Given the description of an element on the screen output the (x, y) to click on. 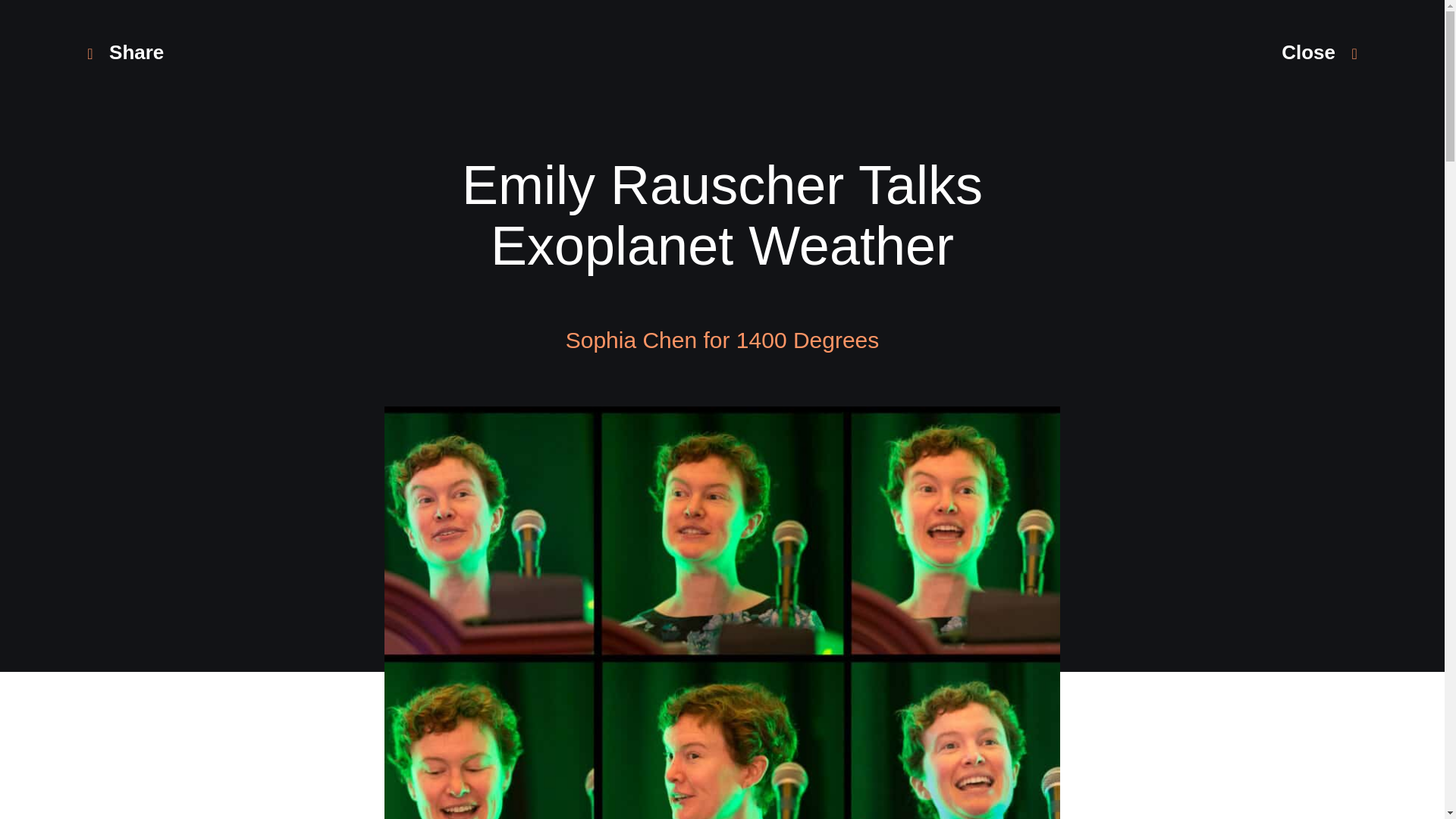
Close (1318, 52)
Share (125, 52)
